Given the description of an element on the screen output the (x, y) to click on. 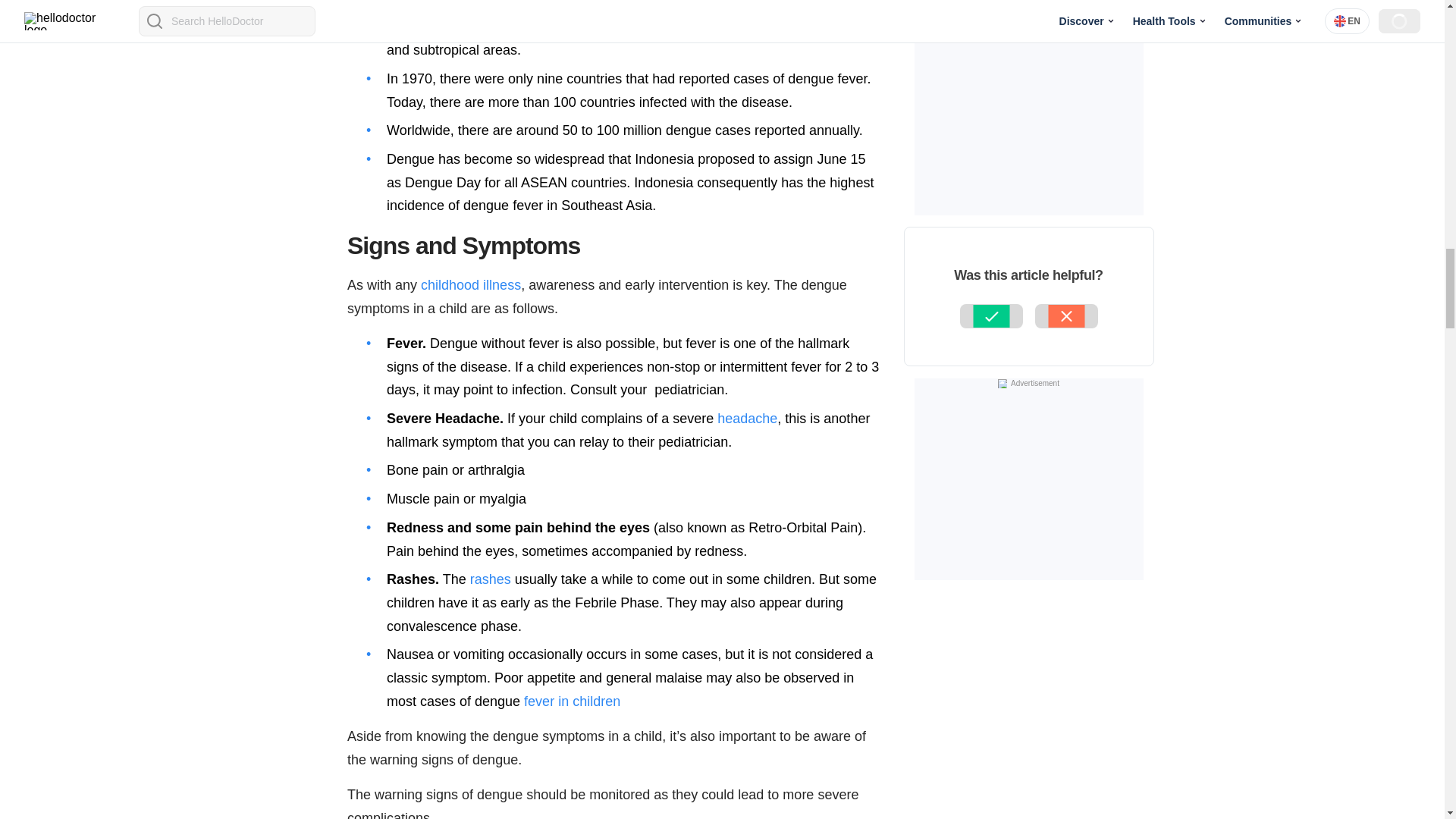
Headaches: Types, Causes, Remedies (747, 418)
Fever in Kids: When To Worry and Other Warning Signs (572, 701)
Common Childhood Illnesses in the Philippines (470, 284)
Common Types of Rashes in Children (489, 580)
